Given the description of an element on the screen output the (x, y) to click on. 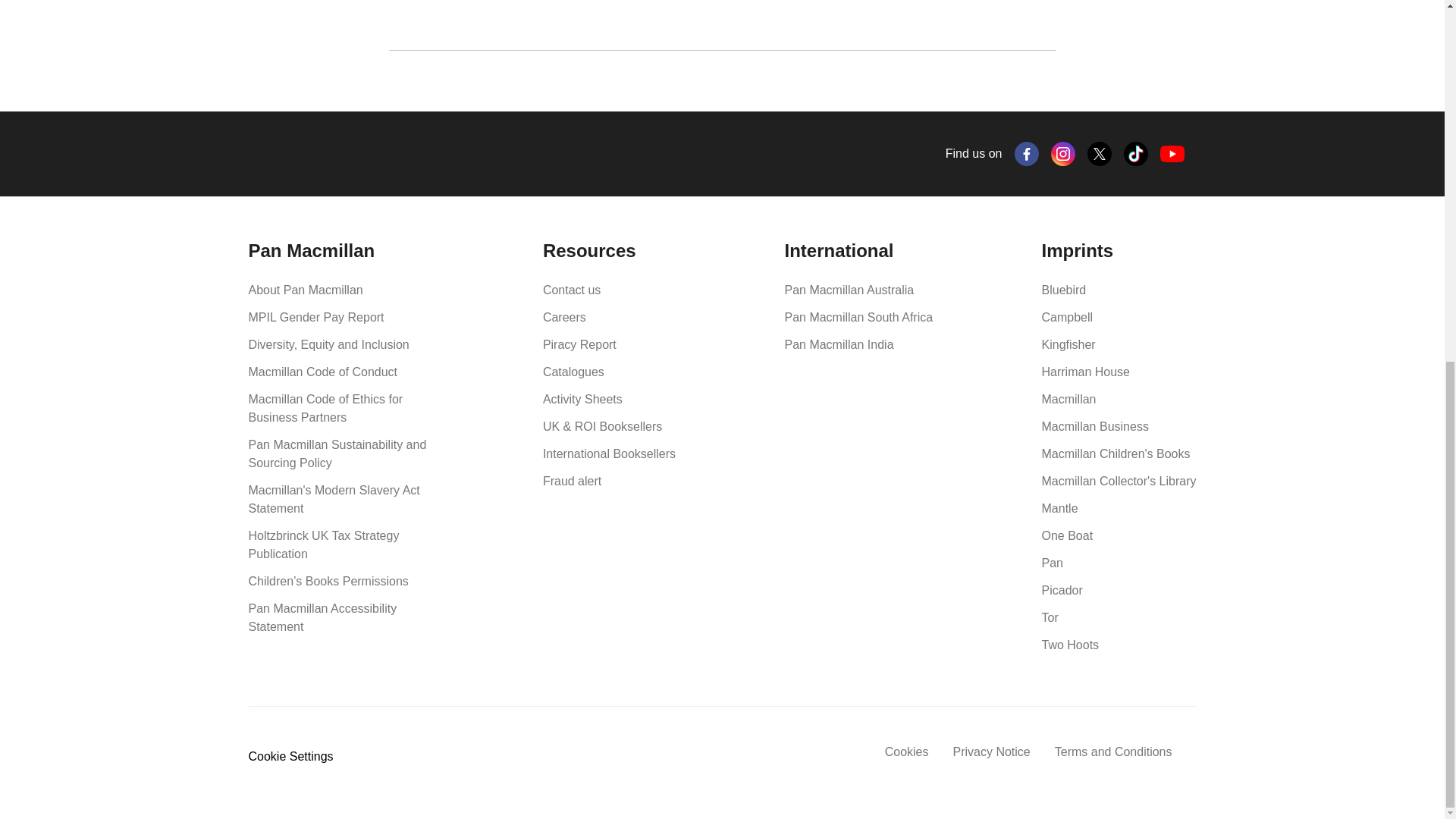
Facebook (1026, 153)
Instagram (1063, 153)
